Given the description of an element on the screen output the (x, y) to click on. 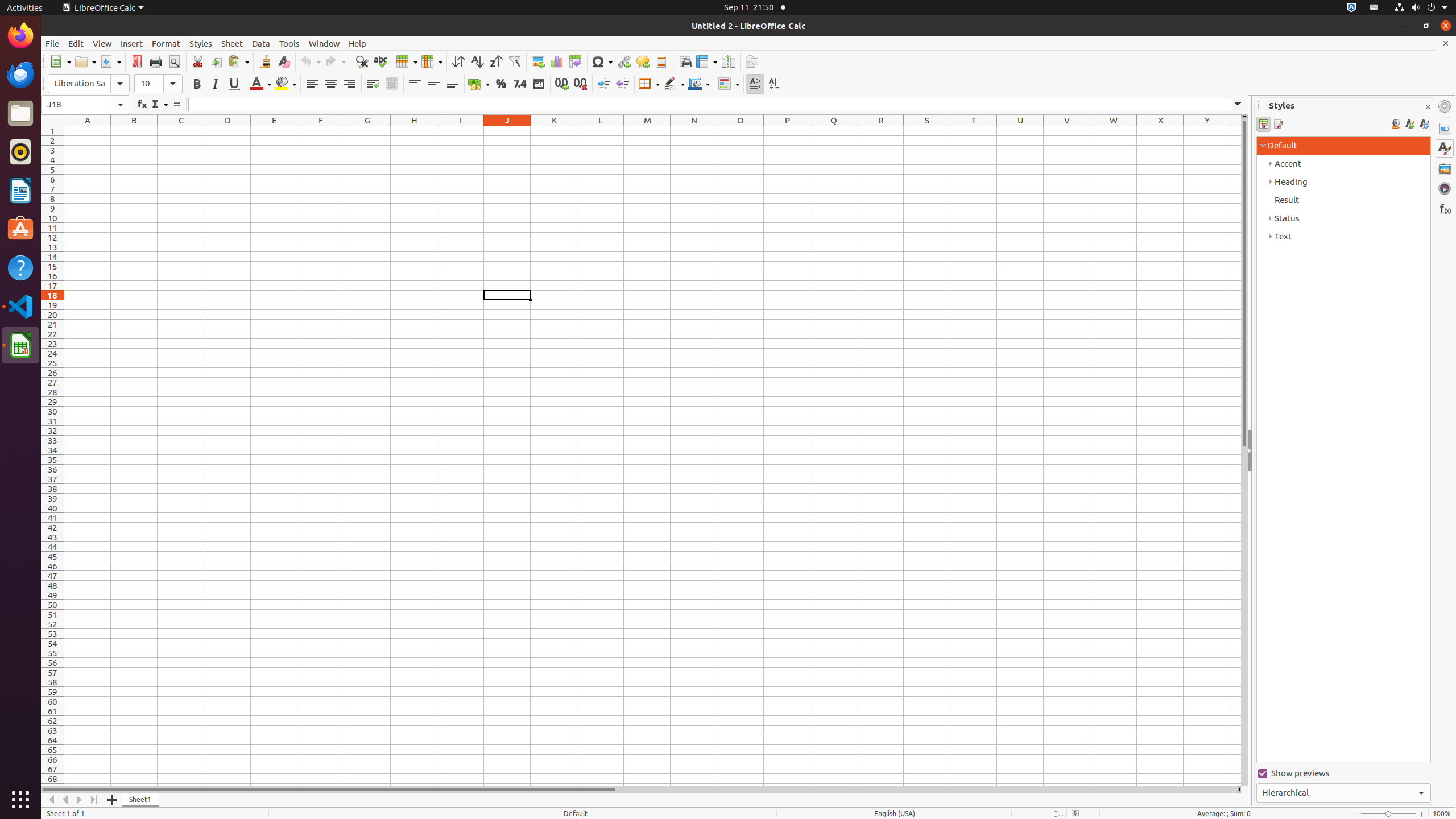
Sheet Sheet1 Element type: table (652, 456)
Font Name Element type: text (78, 83)
Font Color Element type: push-button (260, 83)
Name Box Element type: panel (85, 104)
Name Box Element type: combo-box (85, 104)
